Given the description of an element on the screen output the (x, y) to click on. 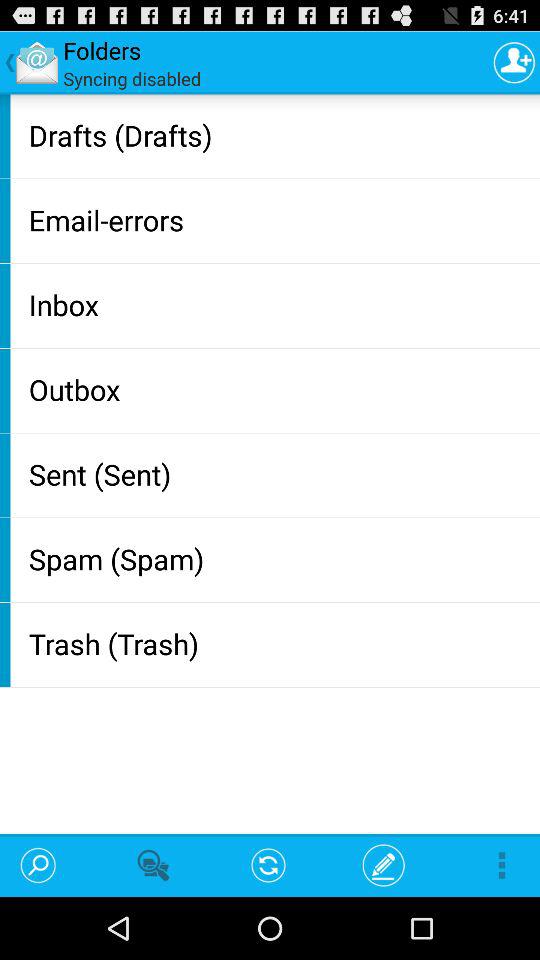
open the app below outbox item (280, 473)
